Given the description of an element on the screen output the (x, y) to click on. 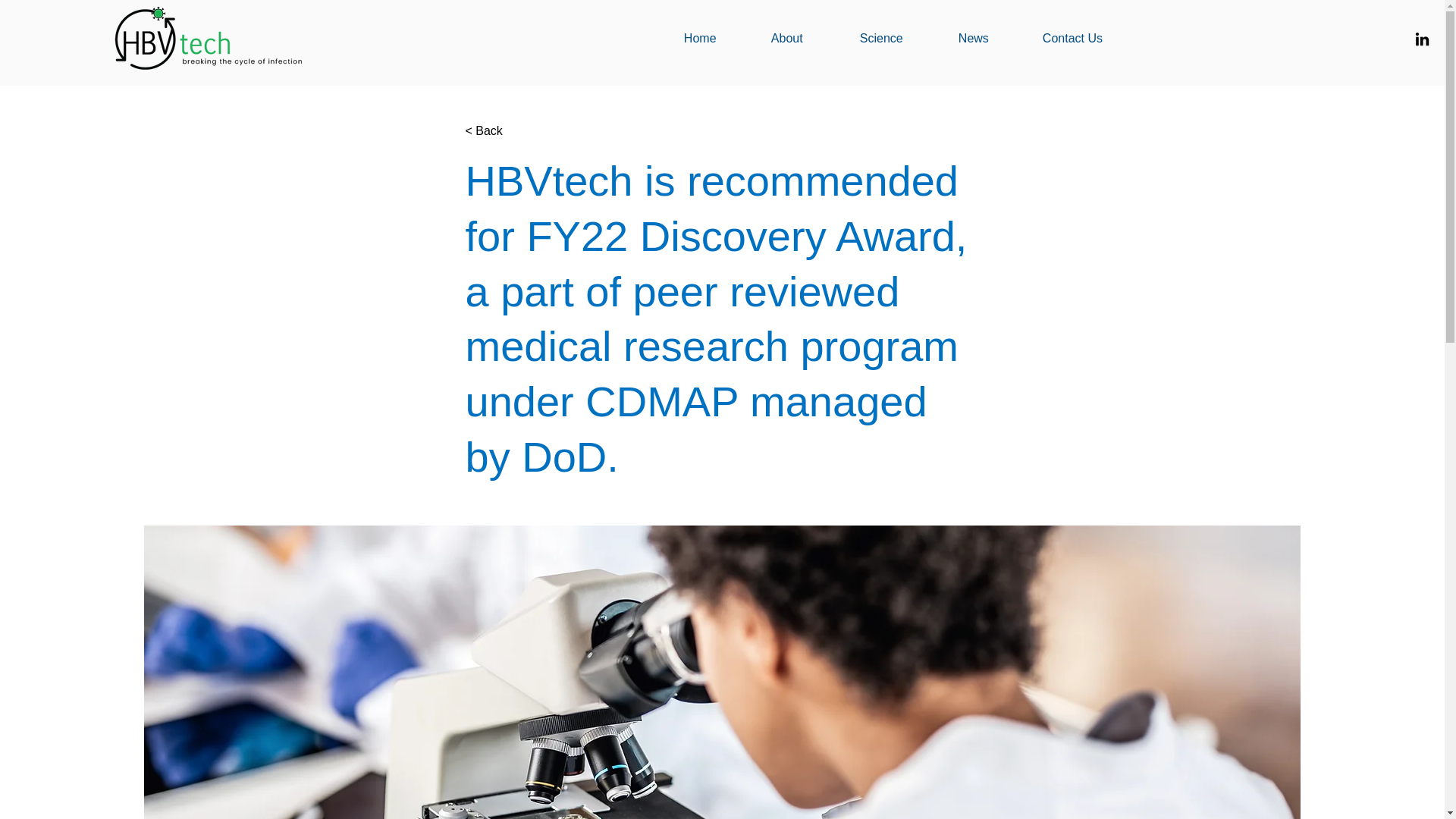
News (988, 38)
HBVtech  (224, 37)
Home (716, 38)
About (804, 38)
Science (897, 38)
Contact Us (1089, 38)
